Given the description of an element on the screen output the (x, y) to click on. 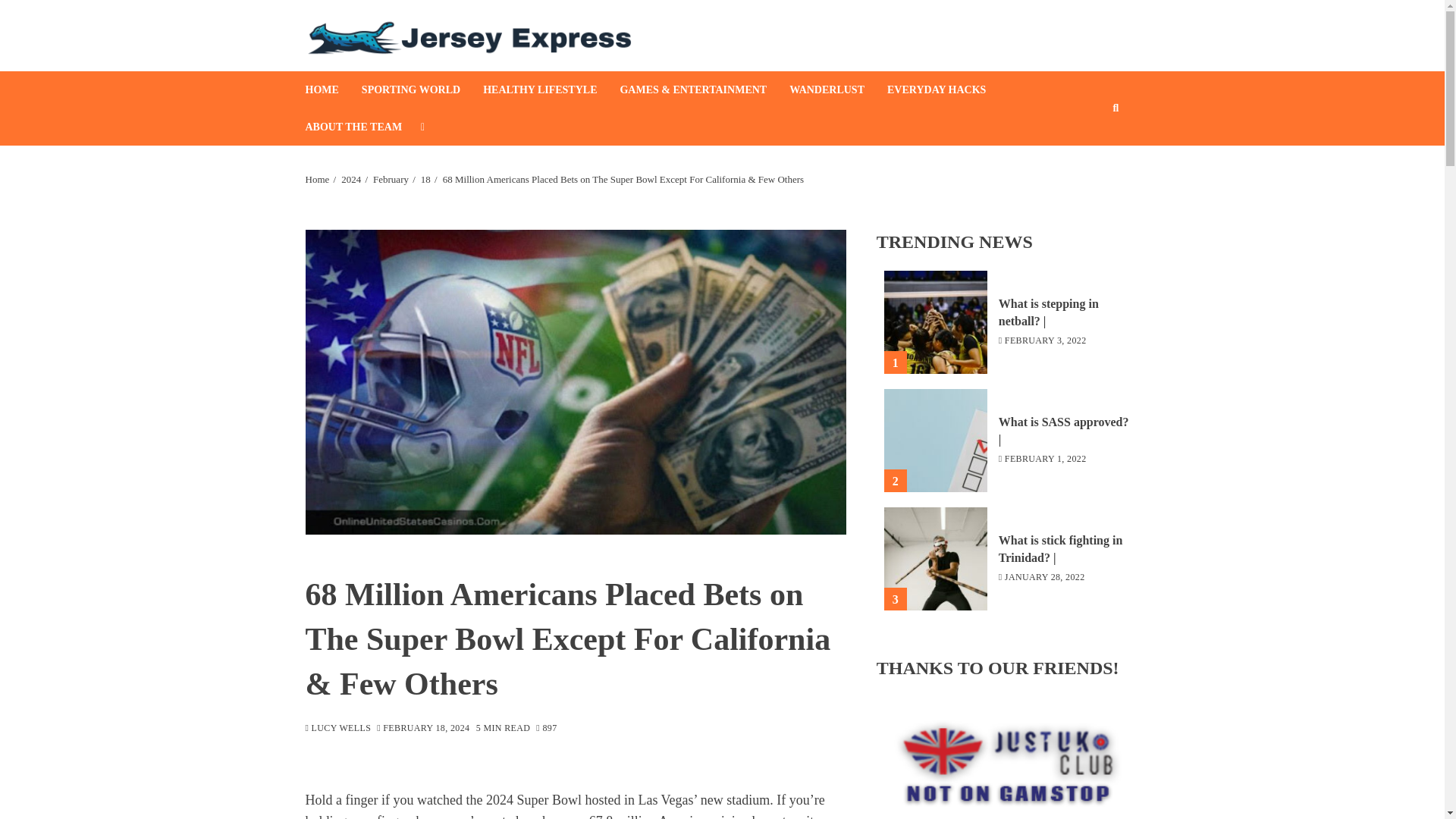
Home (316, 179)
HOME (332, 89)
Search (1092, 154)
SPORTING WORLD (422, 89)
897 (545, 728)
2024 (350, 179)
ABOUT THE TEAM (364, 126)
HEALTHY LIFESTYLE (551, 89)
February (390, 179)
EVERYDAY HACKS (947, 89)
